Given the description of an element on the screen output the (x, y) to click on. 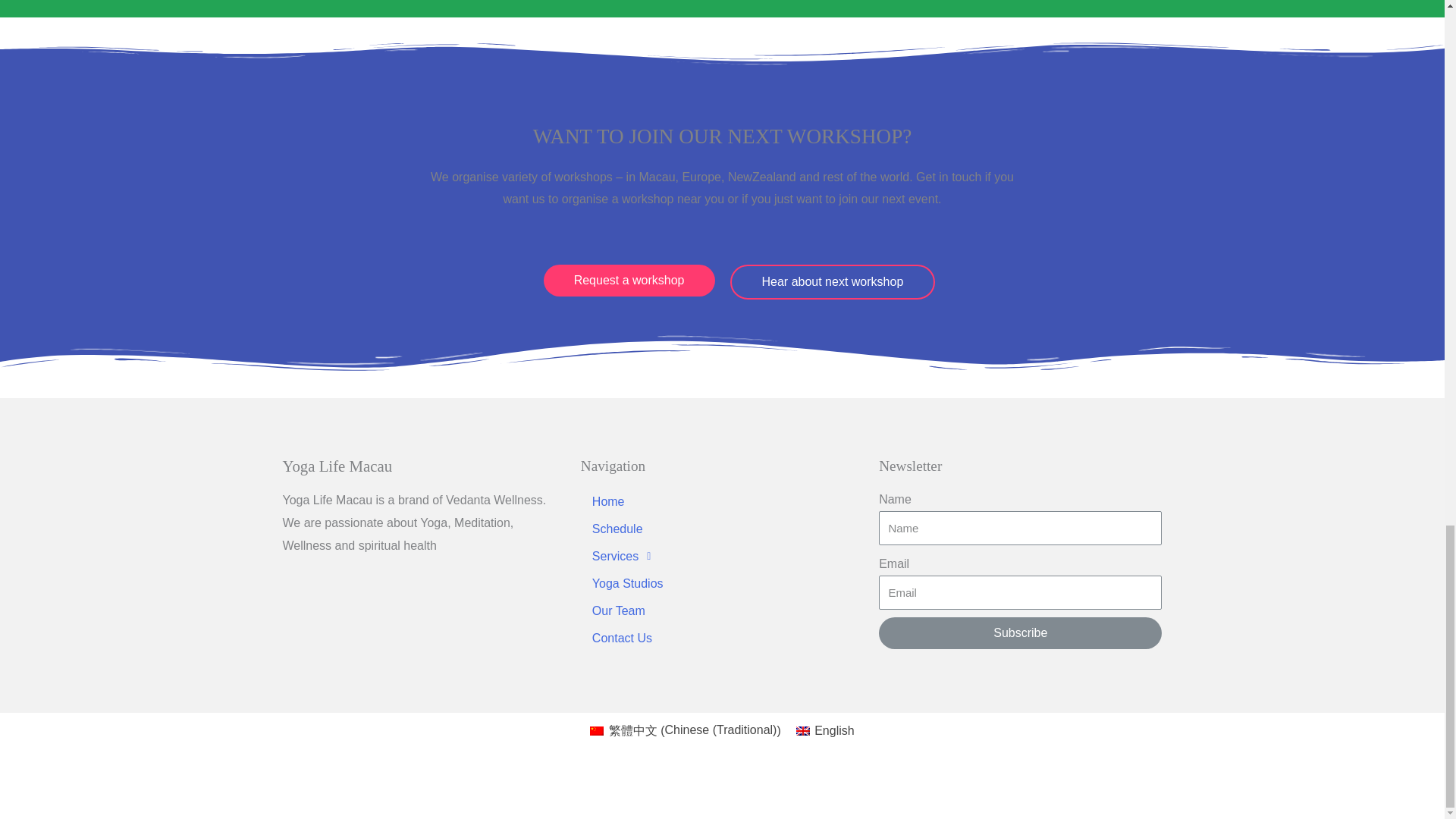
Our Team (721, 610)
Services (721, 556)
Hear about next workshop (831, 281)
Subscribe (1020, 633)
Yoga Studios (721, 583)
Home (721, 501)
Yoga Life Macau (336, 466)
Contact Us (721, 637)
Schedule (721, 528)
Request a workshop (628, 280)
